Given the description of an element on the screen output the (x, y) to click on. 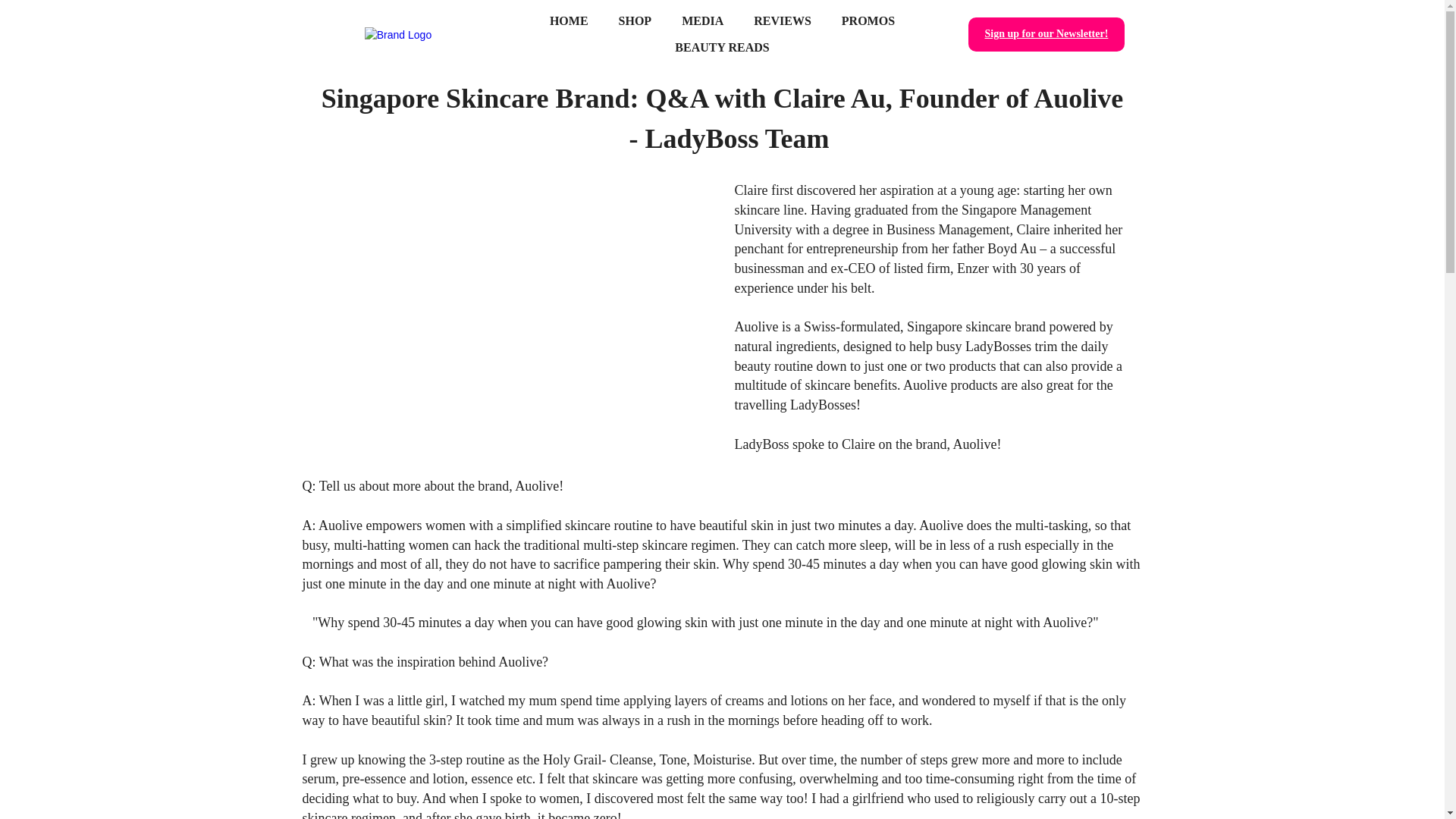
BEAUTY READS (721, 47)
MEDIA (702, 20)
Sign up for our Newsletter! (1046, 34)
MEDIA (702, 20)
BEAUTY READS (721, 47)
PROMOS (868, 20)
SHOP (635, 20)
REVIEWS (782, 20)
HOME (569, 20)
PROMOS (868, 20)
SHOP (635, 20)
HOME (569, 20)
REVIEWS (782, 20)
